Given the description of an element on the screen output the (x, y) to click on. 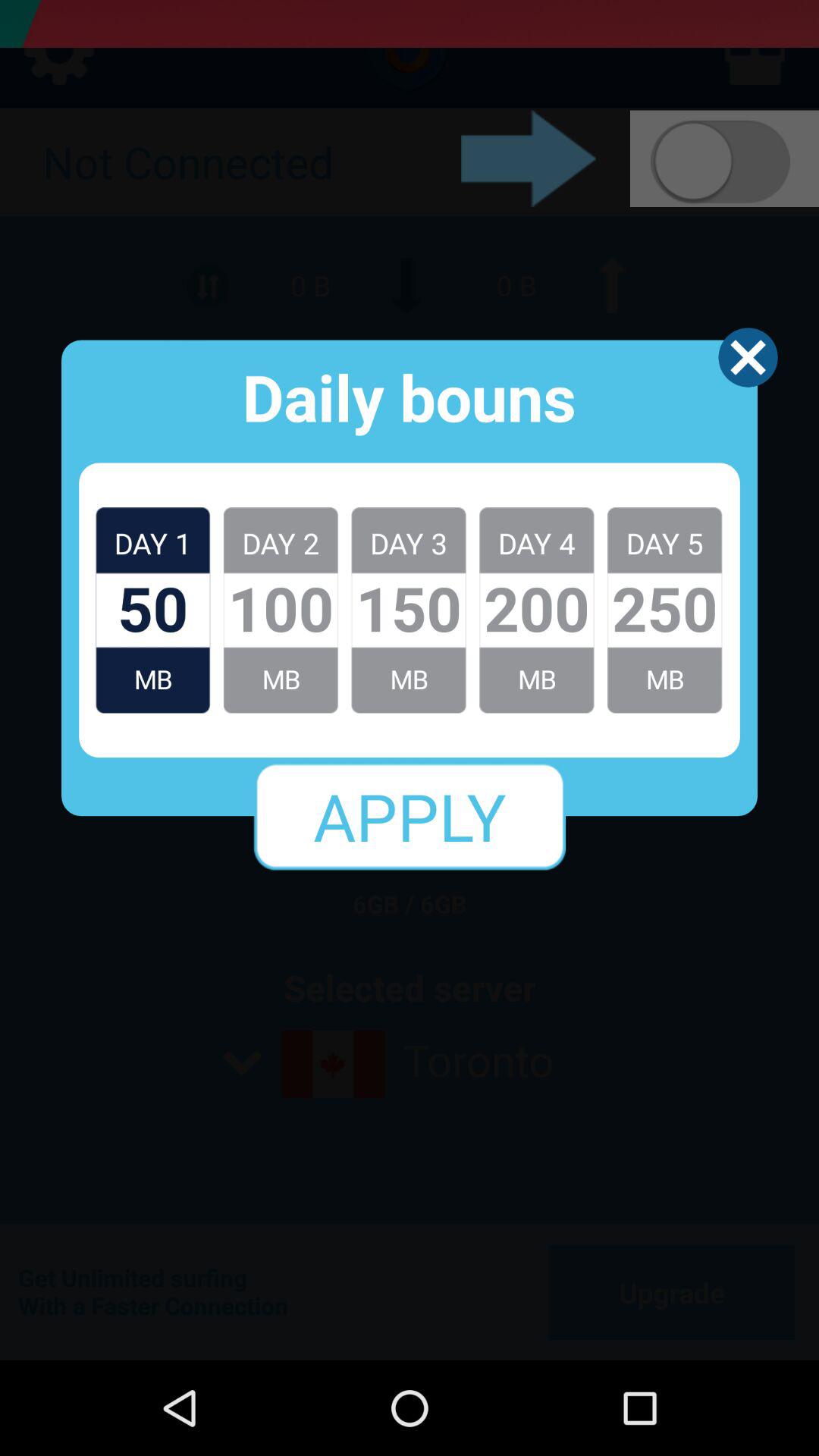
close (747, 357)
